Given the description of an element on the screen output the (x, y) to click on. 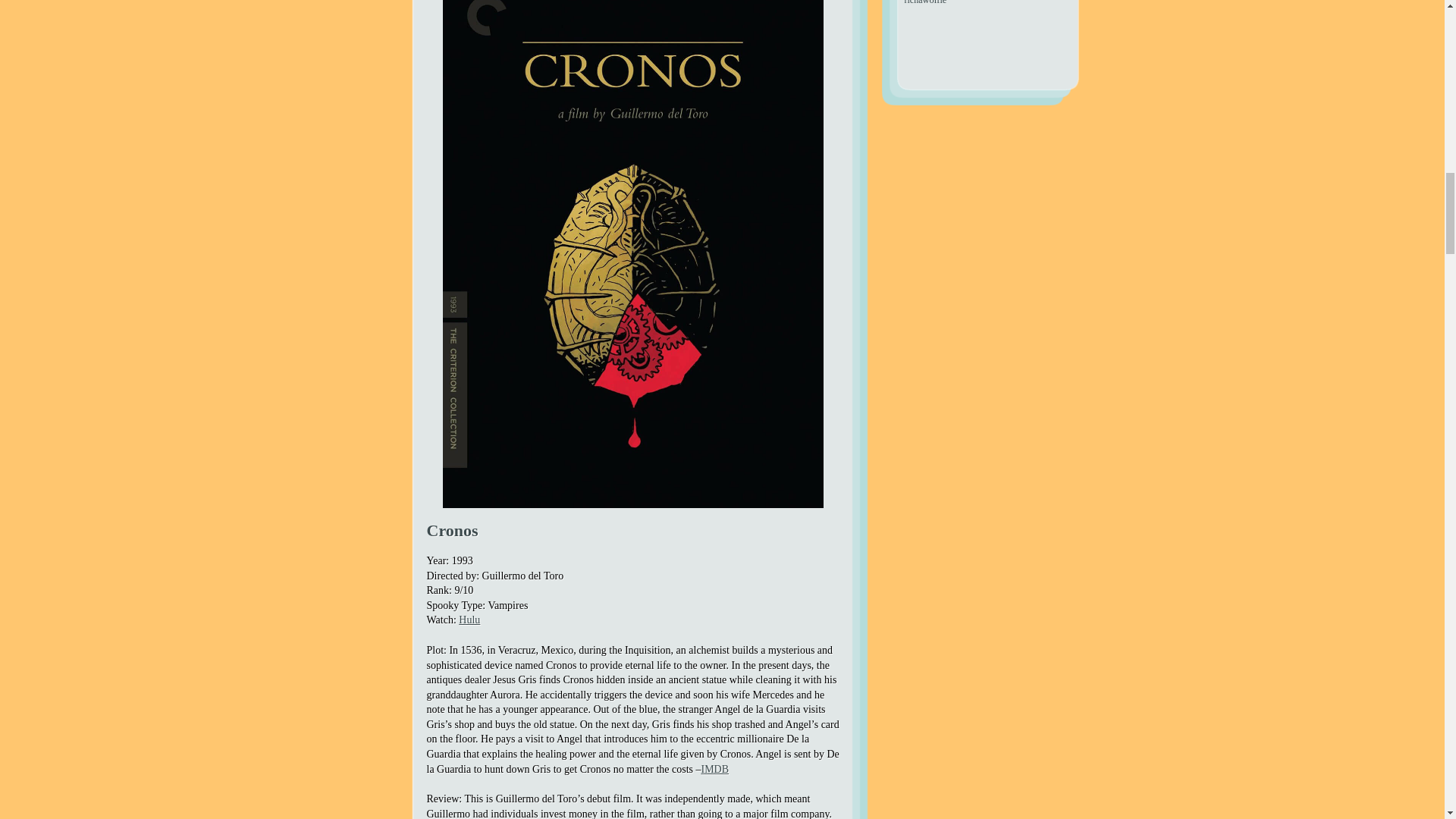
IMDB (714, 768)
Hulu (469, 619)
